Given the description of an element on the screen output the (x, y) to click on. 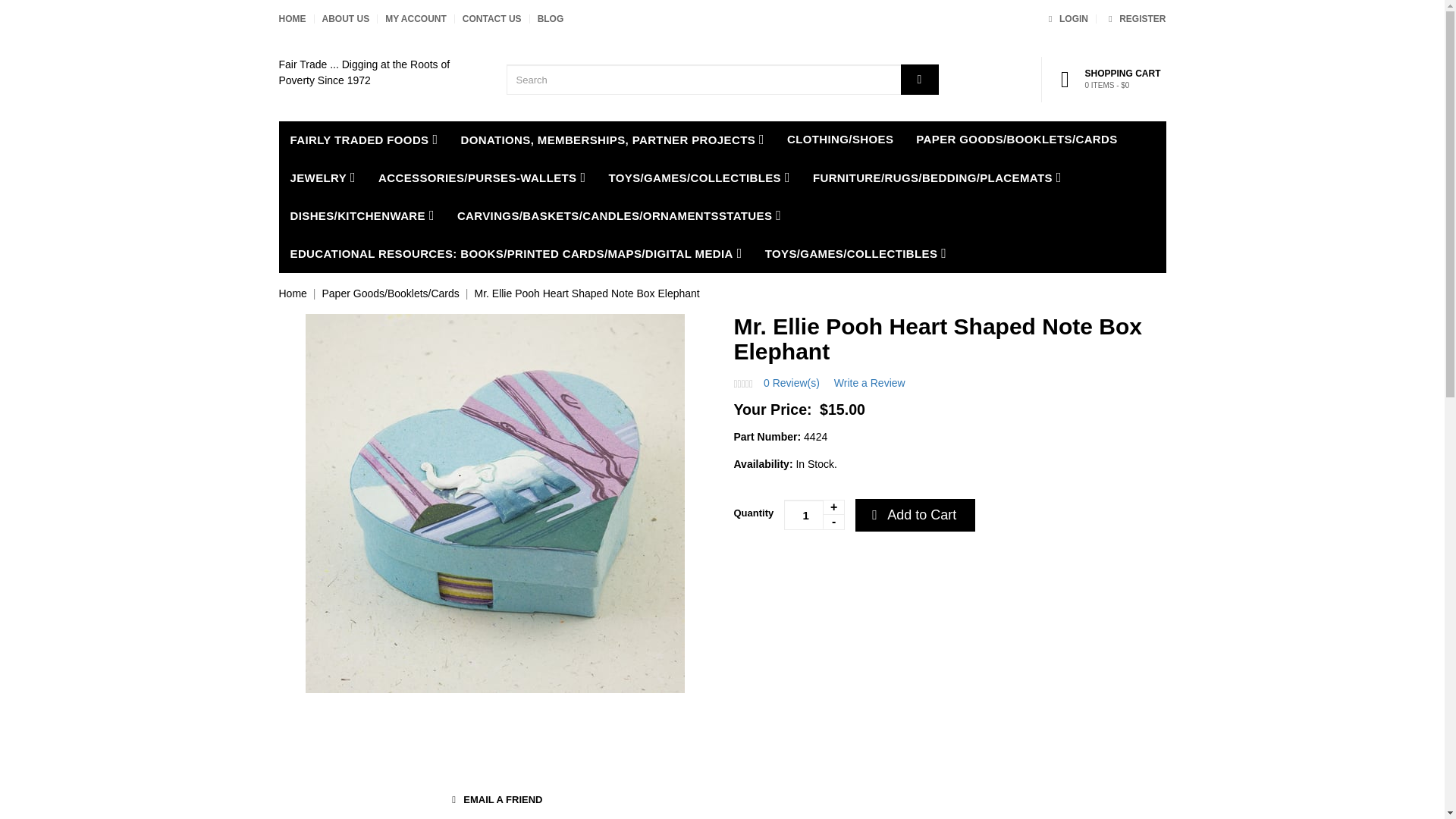
1 (814, 514)
DONATIONS, MEMBERSHIPS, PARTNER PROJECTS (612, 139)
CONTACT US (492, 18)
JEWELRY (323, 177)
FAIRLY TRADED FOODS (364, 139)
REGISTER (1134, 18)
LOGIN (1065, 18)
HOME (292, 18)
ABOUT US (345, 18)
BLOG (550, 18)
